Given the description of an element on the screen output the (x, y) to click on. 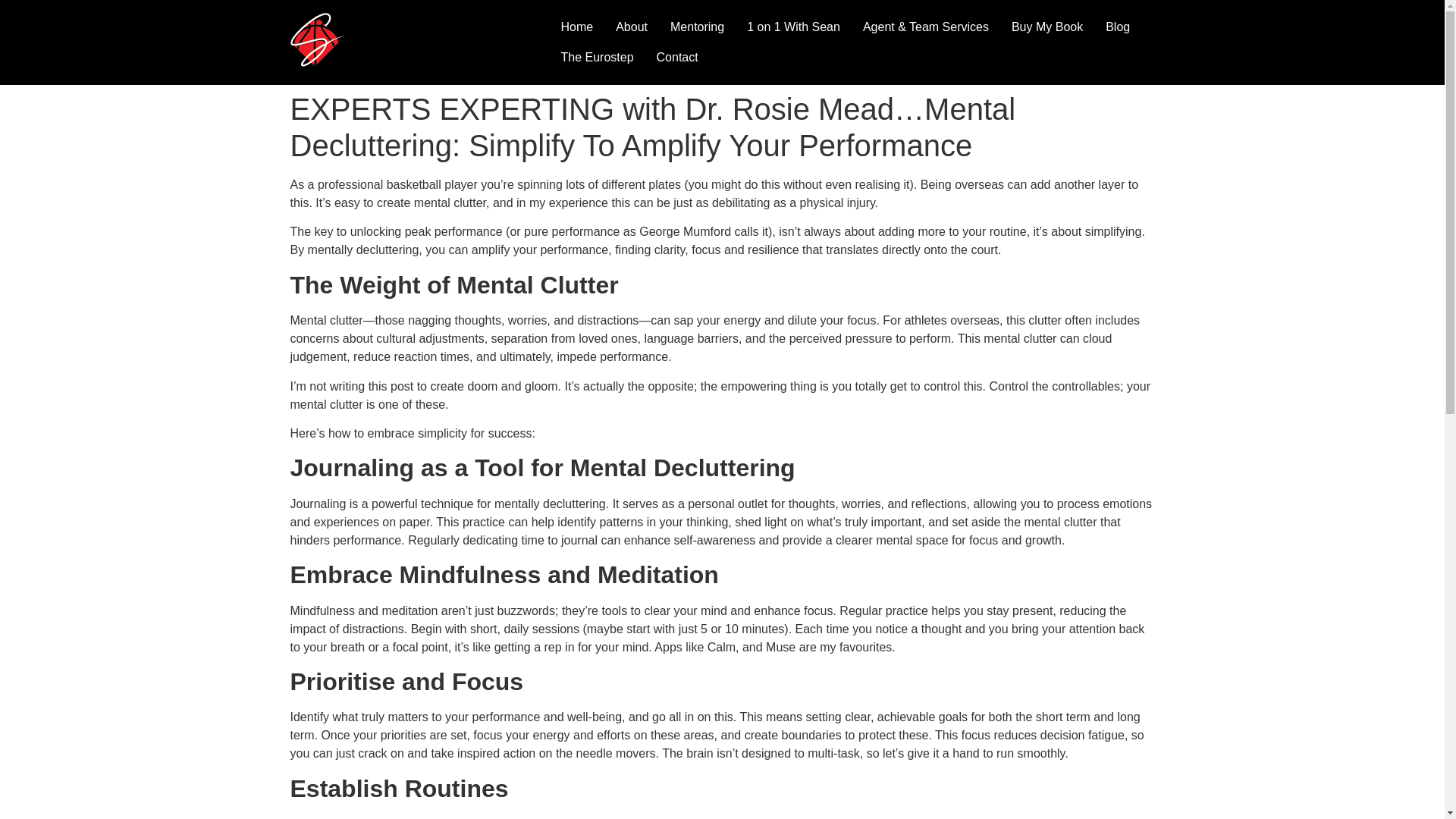
About (631, 27)
Home (576, 27)
Mentoring (697, 27)
1 on 1 With Sean (793, 27)
Buy My Book (1047, 27)
Blog (1117, 27)
The Eurostep (596, 57)
Contact (677, 57)
